Given the description of an element on the screen output the (x, y) to click on. 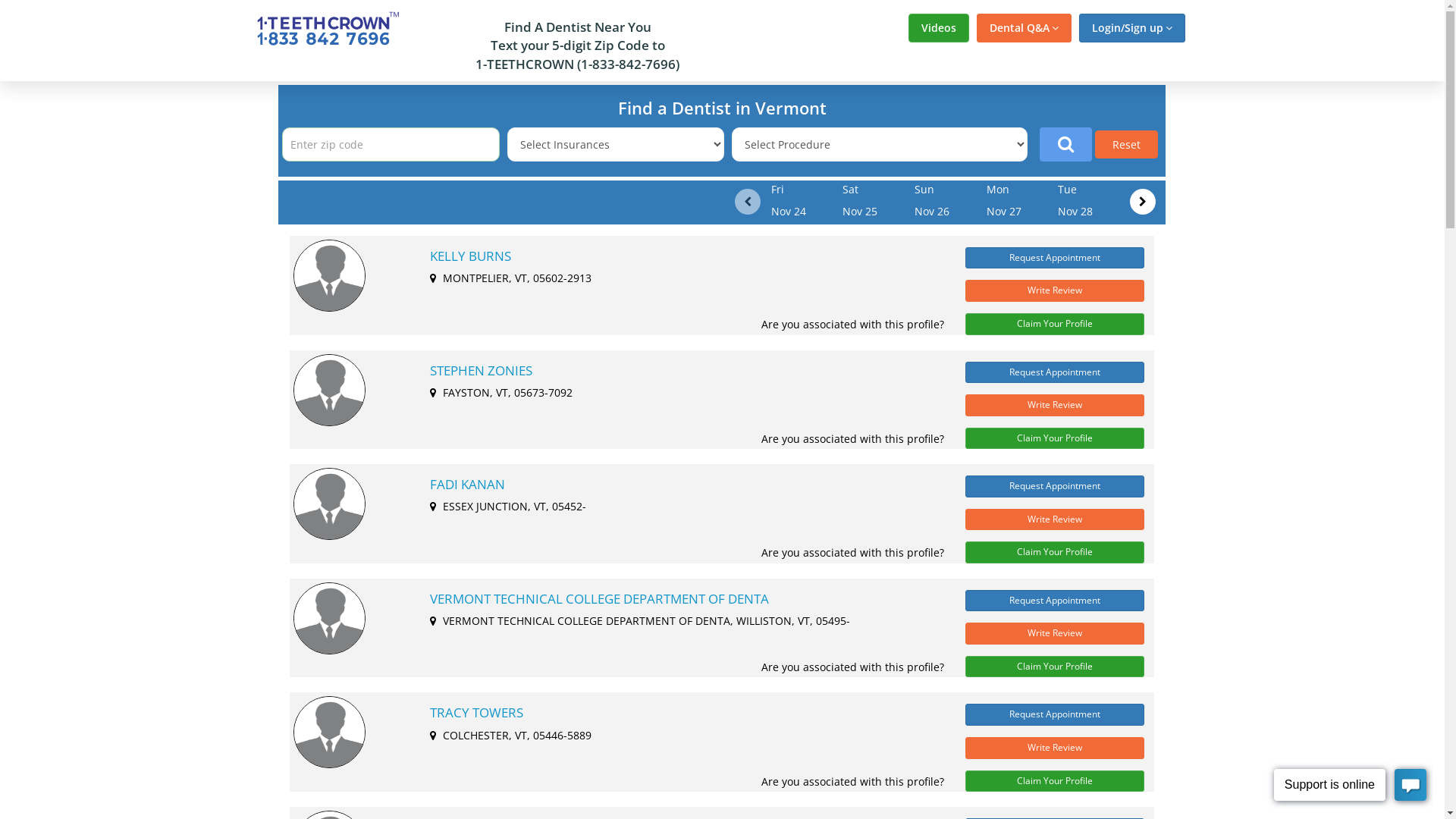
Claim Your Profile Element type: text (1054, 438)
TRACY TOWERS Element type: text (678, 712)
Claim Your Profile Element type: text (1054, 666)
Request Appointment Element type: text (1054, 486)
Login/Sign up Element type: text (1131, 27)
Request Appointment Element type: text (1054, 371)
Advertisement Element type: hover (129, 308)
Request Appointment Element type: text (1054, 600)
Advertisement Element type: hover (1313, 308)
Write Review Element type: text (1054, 405)
VERMONT TECHNICAL COLLEGE DEPARTMENT OF DENTA Element type: text (678, 598)
Pure Chat Live Chat Element type: hover (1349, 786)
STEPHEN ZONIES Element type: text (678, 369)
Reset Element type: text (1126, 144)
Dental Q&A Element type: text (1023, 27)
Write Review Element type: text (1054, 290)
KELLY BURNS Element type: text (678, 256)
Write Review Element type: text (1054, 519)
Write Review Element type: text (1054, 633)
Videos Element type: text (938, 27)
Request Appointment Element type: text (1054, 258)
Claim Your Profile Element type: text (1054, 781)
Claim Your Profile Element type: text (1054, 324)
Request Appointment Element type: text (1054, 714)
Write Review Element type: text (1054, 748)
Claim Your Profile Element type: text (1054, 552)
FADI KANAN Element type: text (678, 484)
